Given the description of an element on the screen output the (x, y) to click on. 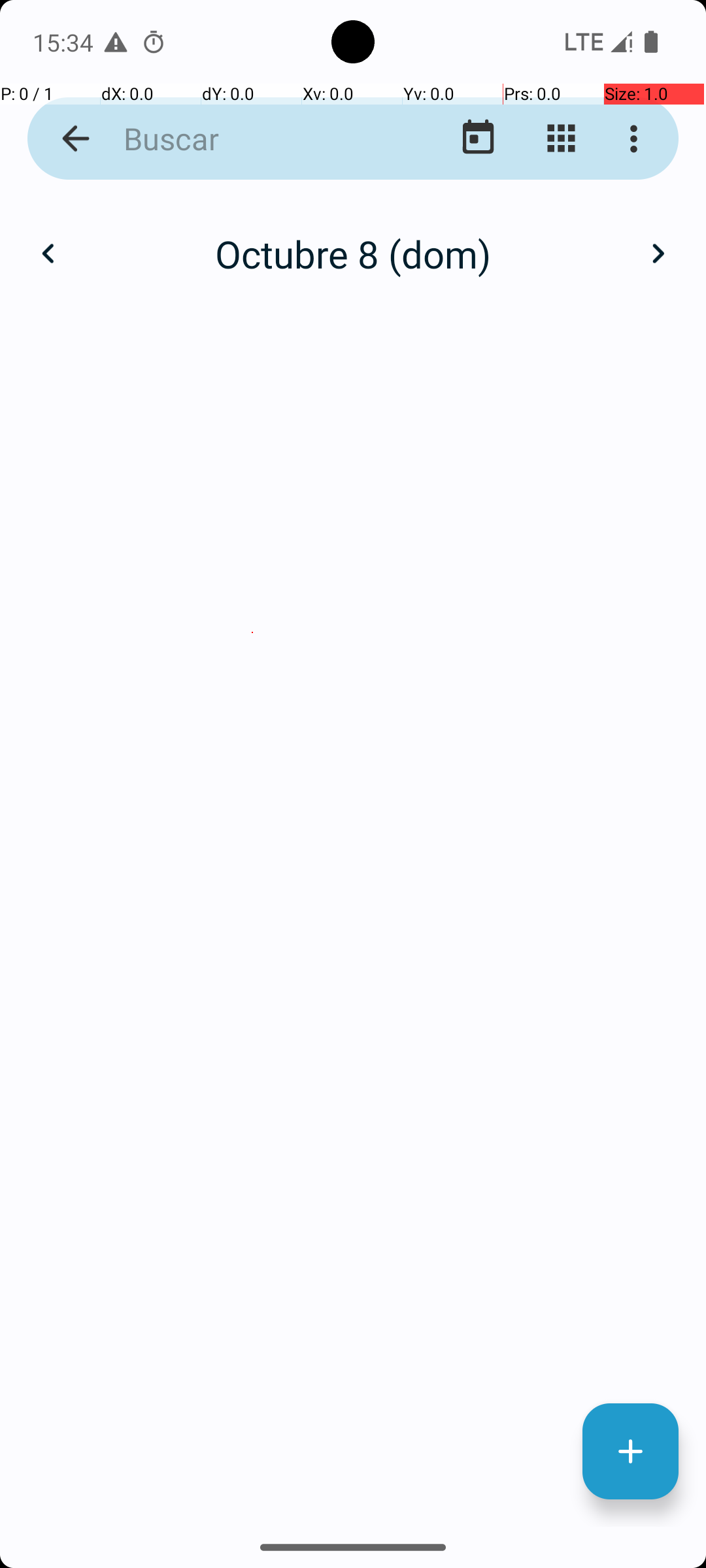
Ir al día de hoy Element type: android.widget.Button (477, 138)
Octubre 8 (dom) Element type: android.widget.TextView (352, 253)
